Given the description of an element on the screen output the (x, y) to click on. 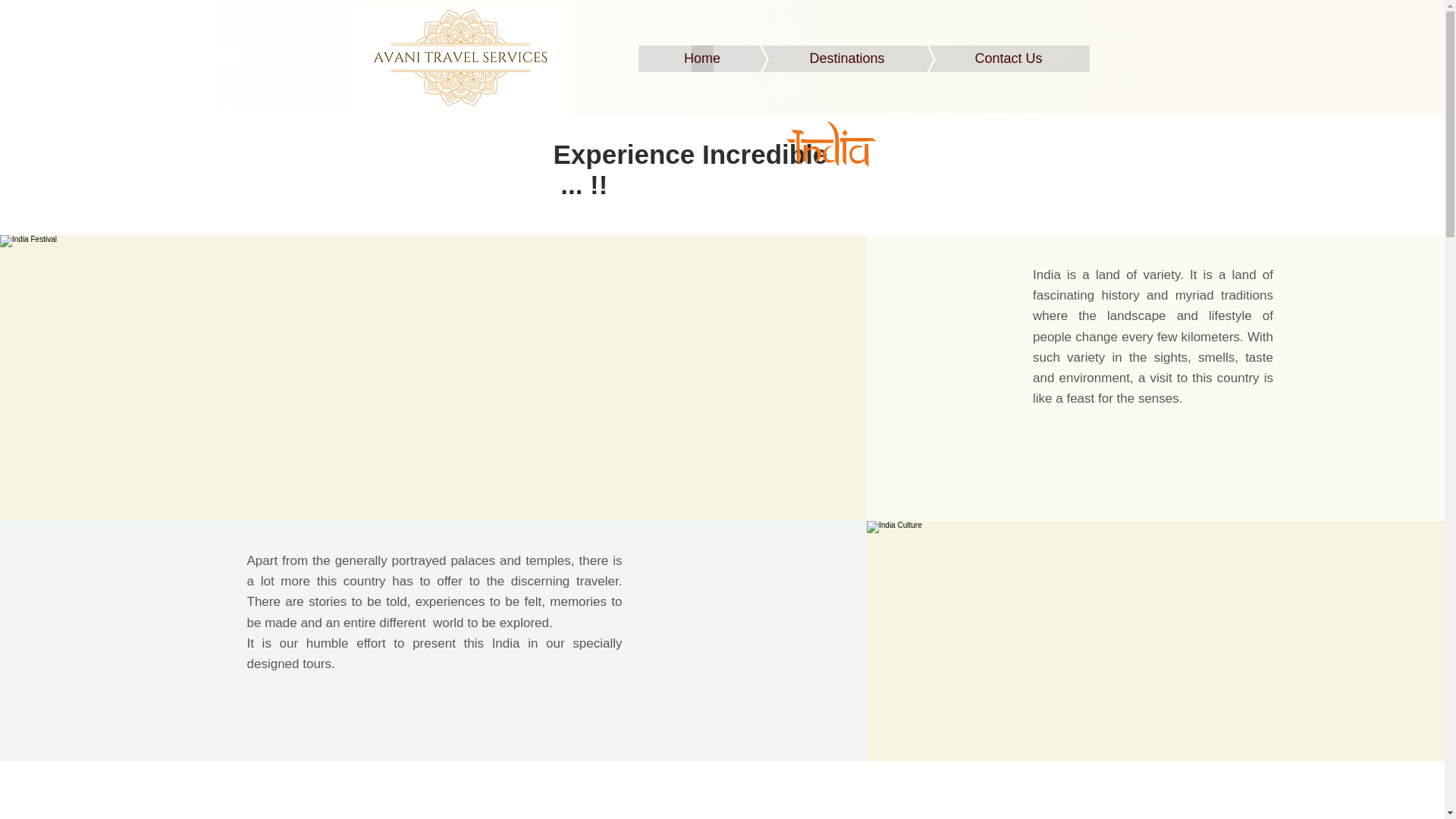
Contact Us (985, 58)
Home (703, 58)
